Given the description of an element on the screen output the (x, y) to click on. 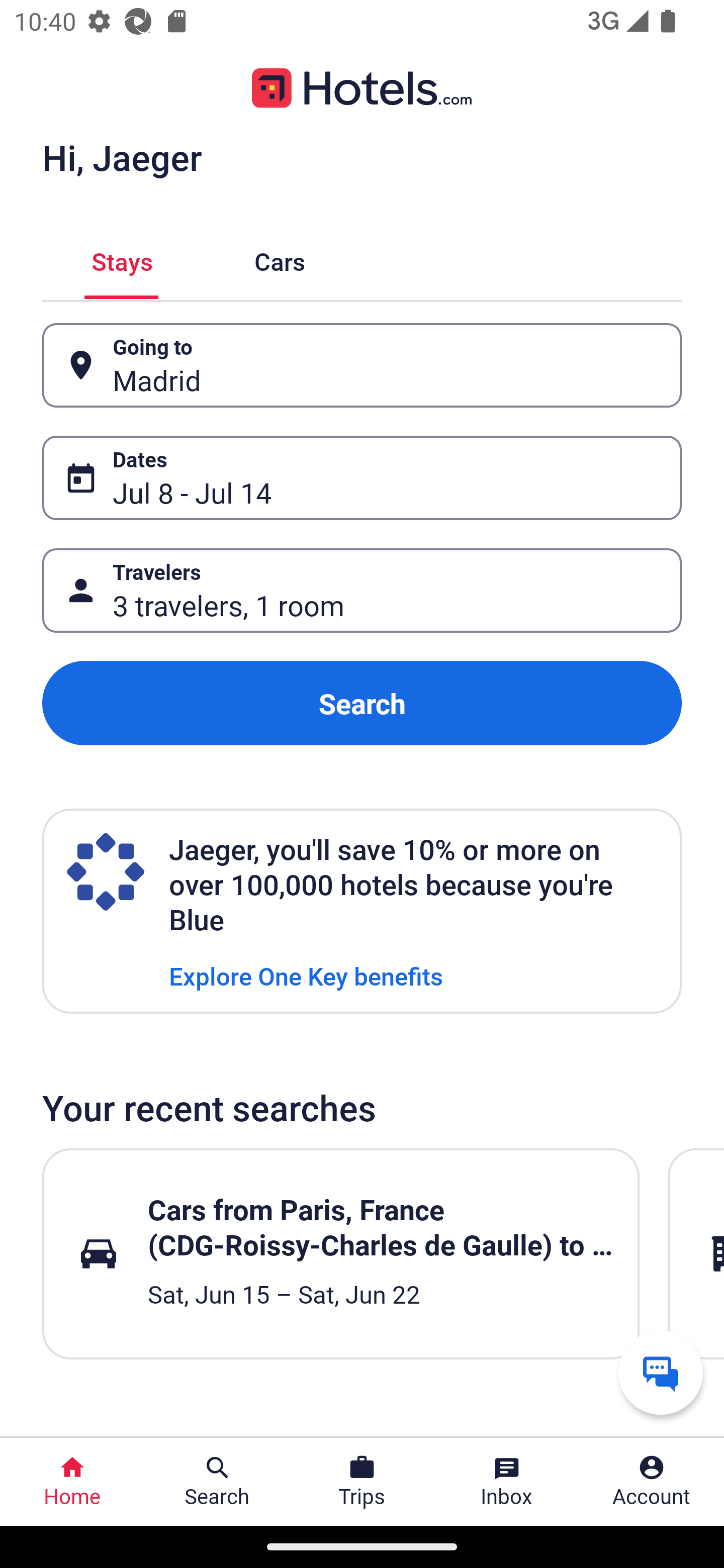
Hi, Jaeger (121, 156)
Cars (279, 259)
Going to Button Madrid (361, 365)
Dates Button Jul 8 - Jul 14 (361, 477)
Travelers Button 3 travelers, 1 room (361, 590)
Search (361, 702)
Get help from a virtual agent (660, 1371)
Search Search Button (216, 1481)
Trips Trips Button (361, 1481)
Inbox Inbox Button (506, 1481)
Account Profile. Button (651, 1481)
